Given the description of an element on the screen output the (x, y) to click on. 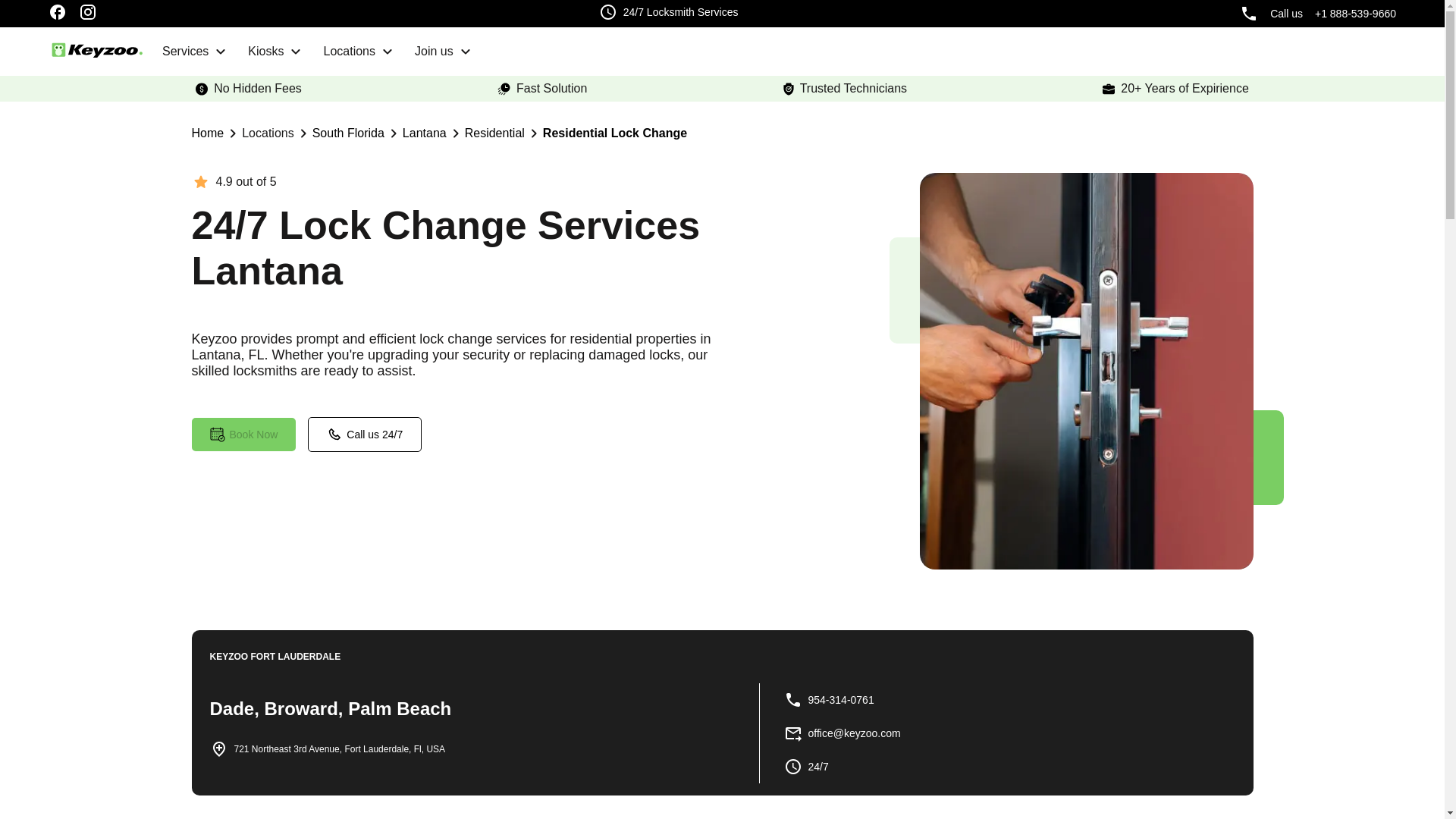
Home (207, 133)
Residential (494, 133)
Lantana (424, 133)
Residential Lock Change (615, 133)
Book Now (242, 434)
South Florida (348, 133)
